Given the description of an element on the screen output the (x, y) to click on. 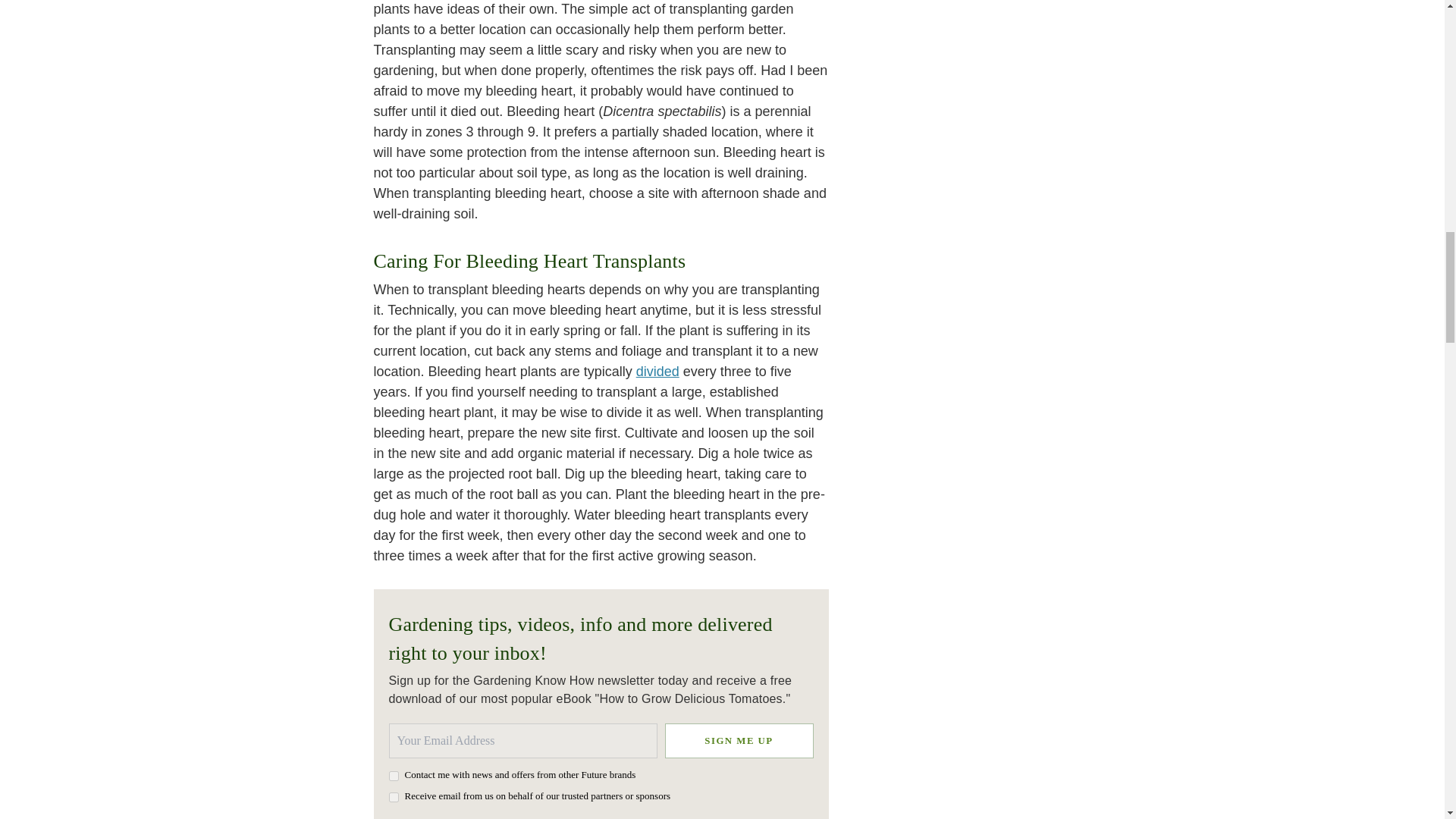
Sign me up (737, 740)
on (392, 797)
on (392, 776)
